Given the description of an element on the screen output the (x, y) to click on. 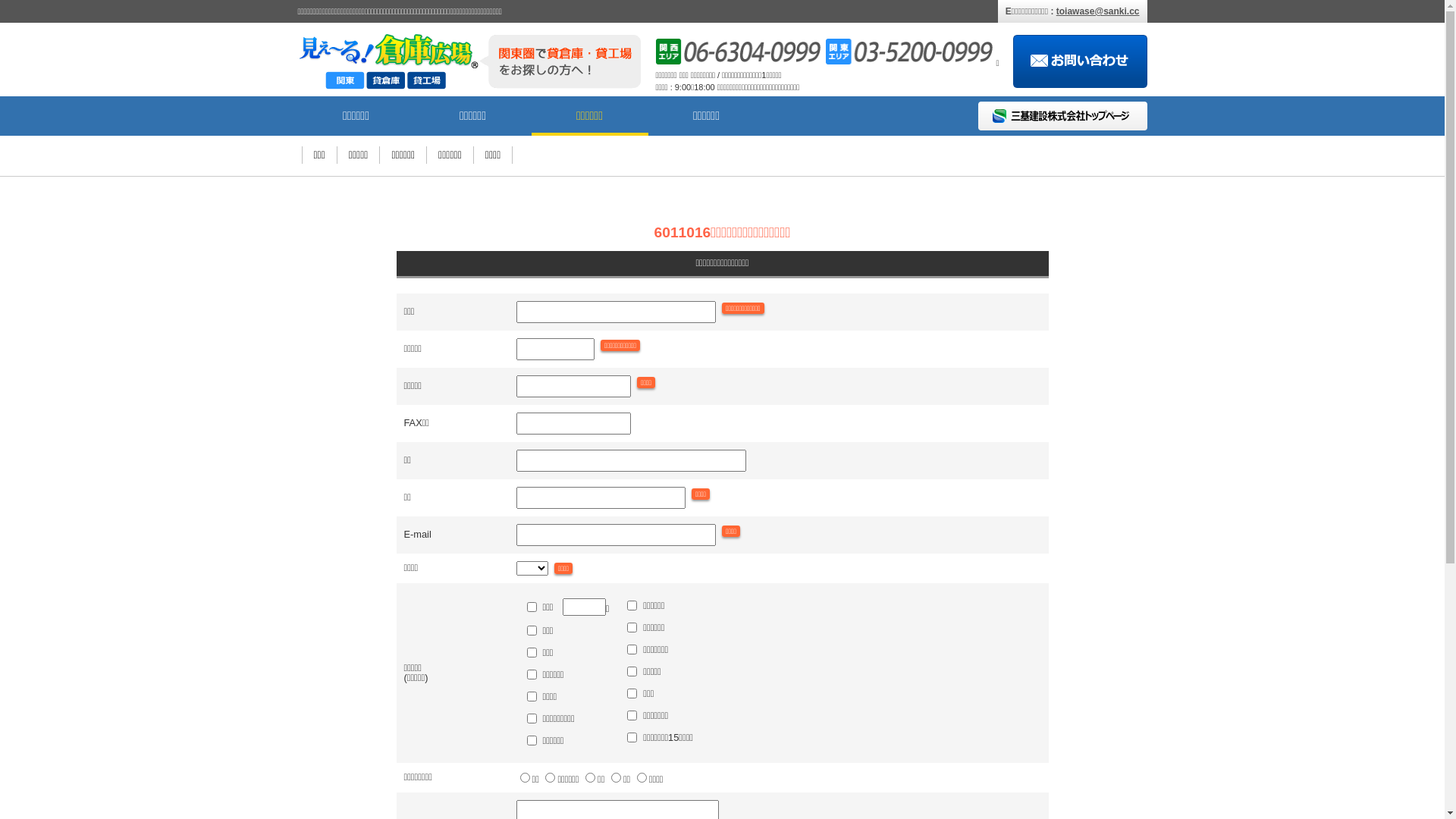
toiawase@sanki.cc Element type: text (1097, 11)
